Given the description of an element on the screen output the (x, y) to click on. 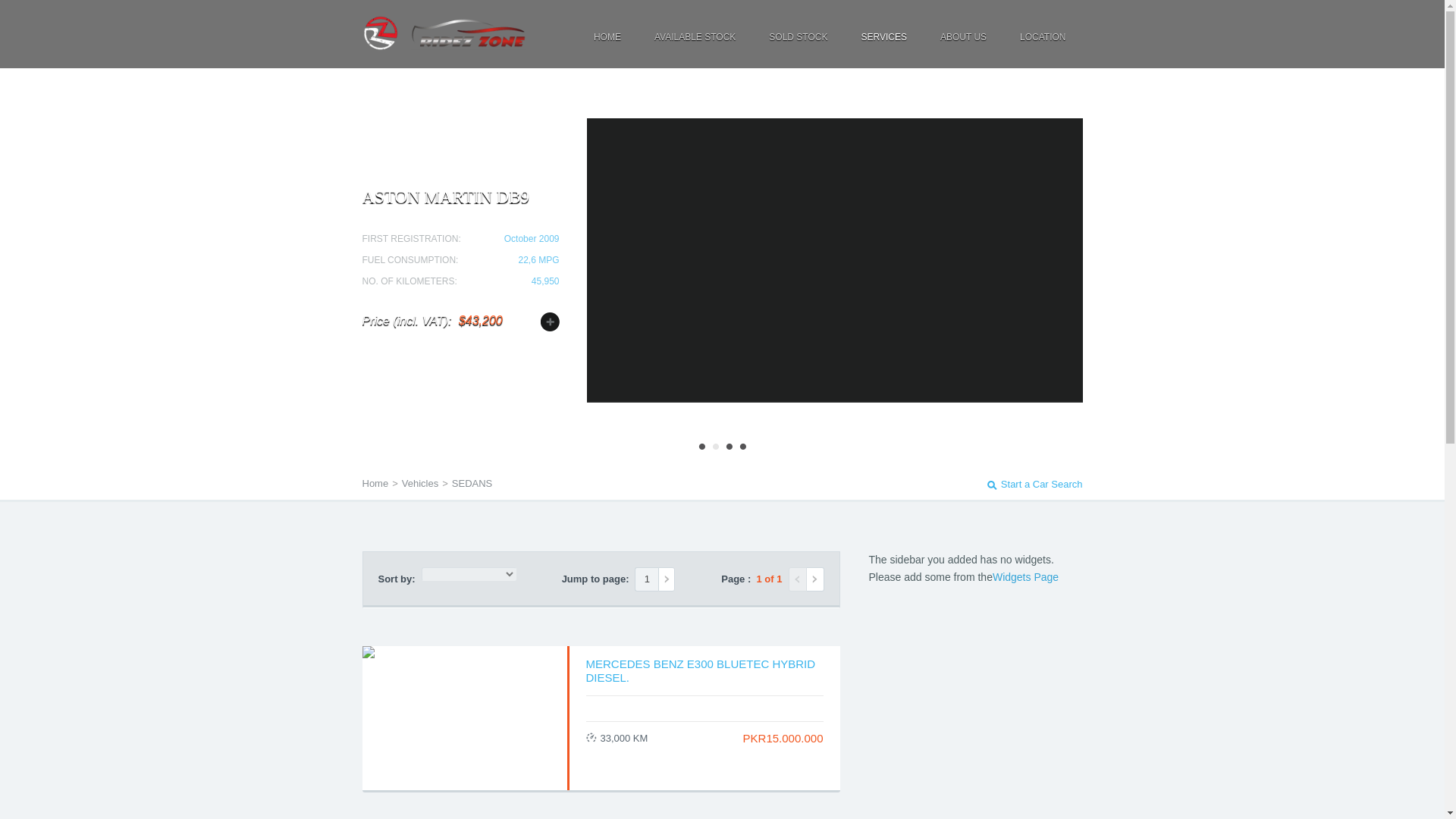
3 (728, 446)
1 (646, 579)
Save (549, 322)
HOME (607, 37)
4 (741, 446)
SOLD STOCK (797, 37)
2 (715, 446)
Start a Car Search (1035, 483)
SERVICES (882, 37)
AVAILABLE STOCK (694, 37)
1 (700, 446)
LOCATION (1042, 37)
Home (375, 482)
ASTON MARTIN DB9 (445, 196)
Vehicles (419, 482)
